Given the description of an element on the screen output the (x, y) to click on. 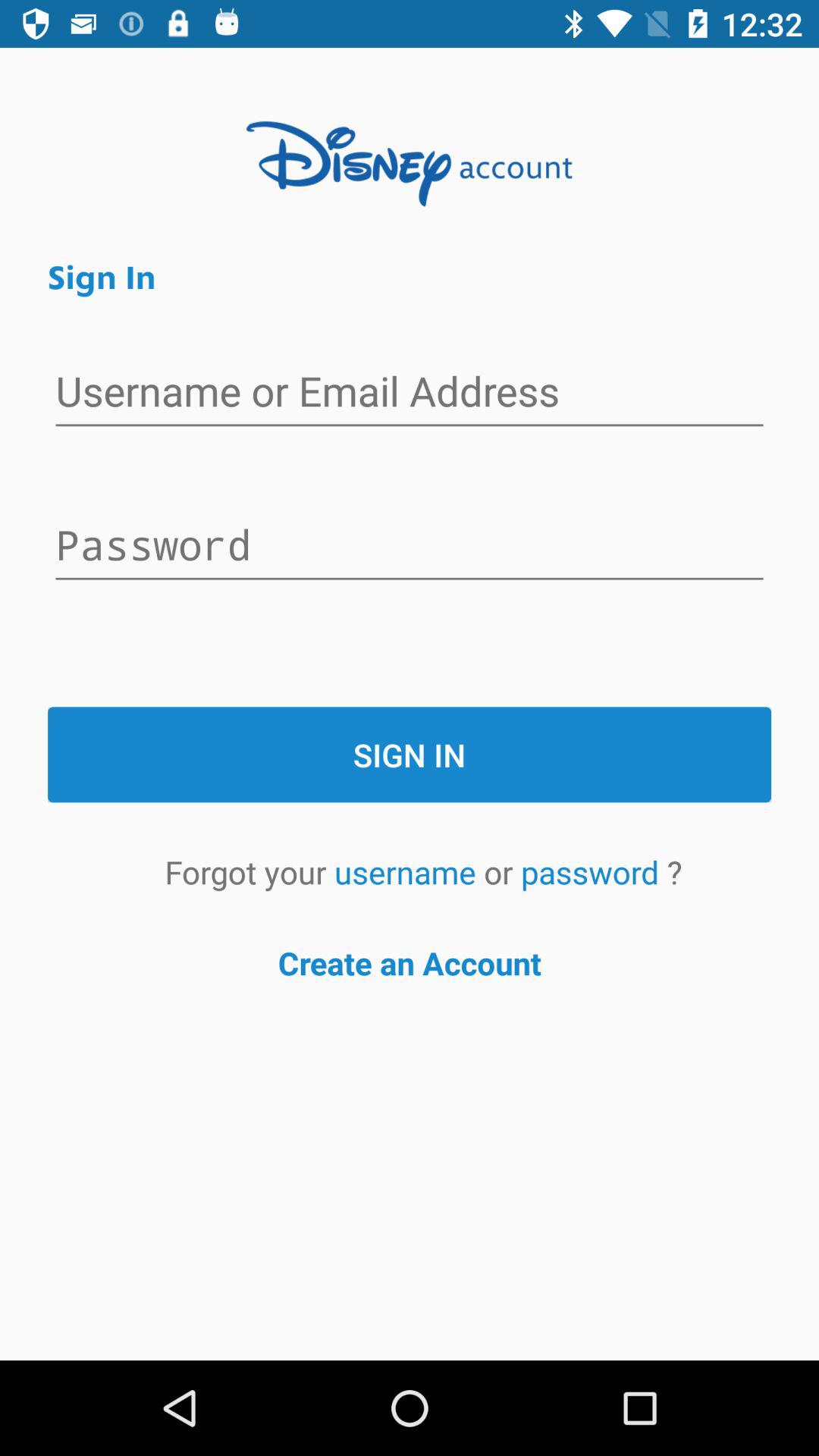
turn on the create an account item (409, 962)
